Given the description of an element on the screen output the (x, y) to click on. 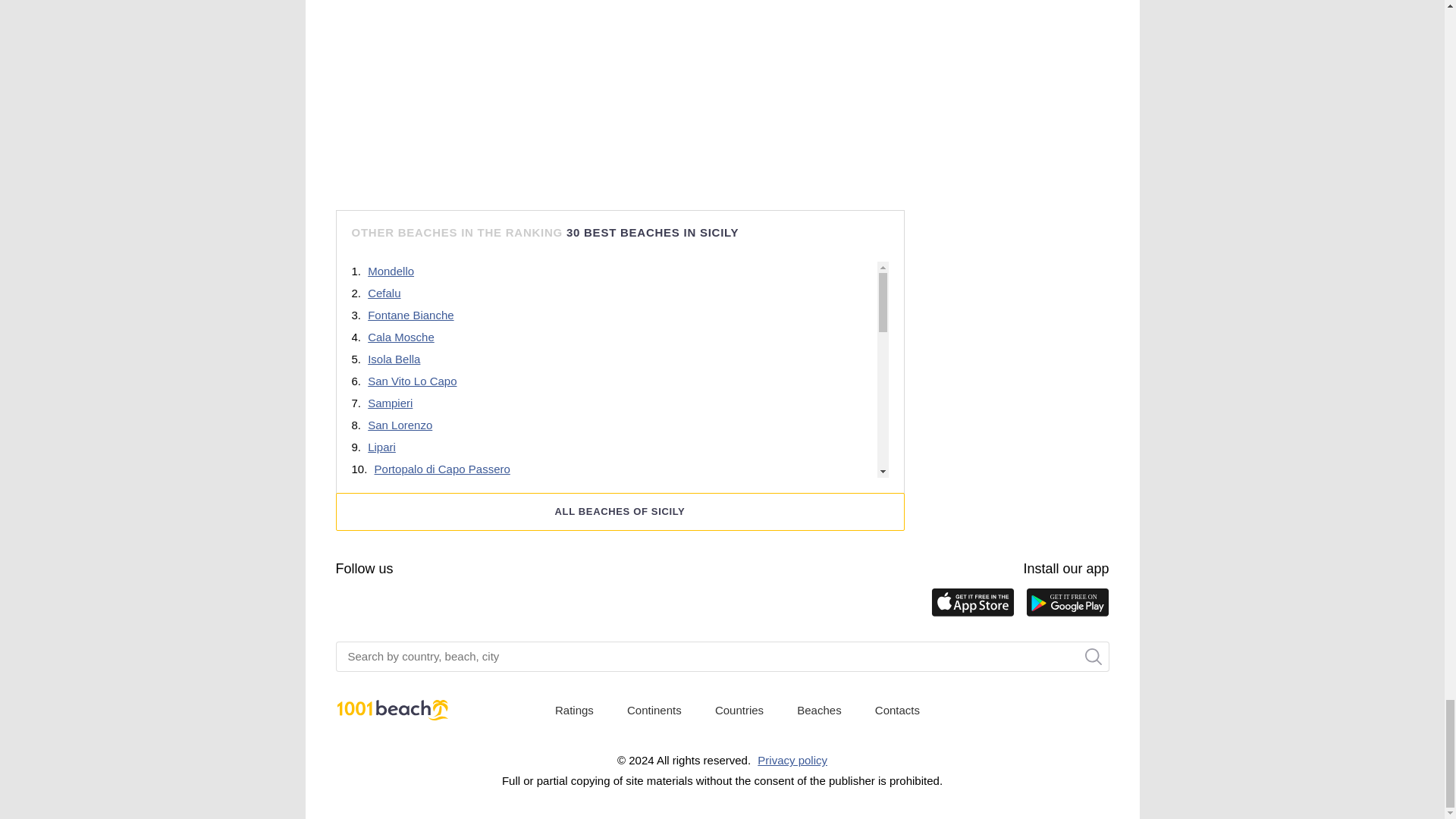
Pinterest (435, 605)
Tumblr (405, 605)
Facebook (343, 605)
App Store (972, 603)
Twitter (466, 605)
Google play (1066, 603)
YouTube (374, 605)
GET IT FREE ON (1066, 603)
